Given the description of an element on the screen output the (x, y) to click on. 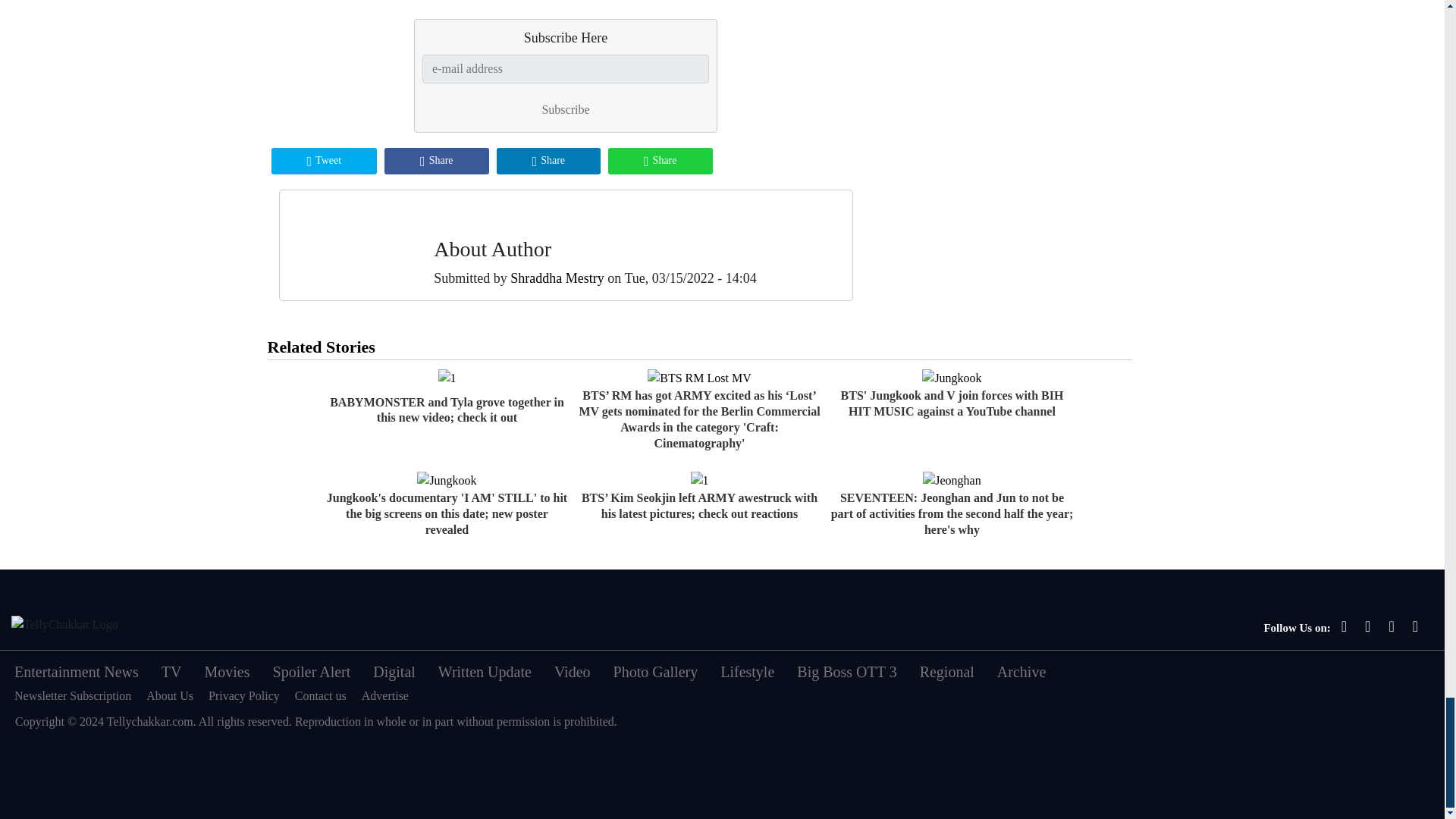
1 (698, 480)
Jeonghan  (951, 480)
Jungkook (446, 480)
BTS RM Lost MV (699, 378)
Jungkook  (951, 378)
1 (447, 378)
TellyChakkar Logo (64, 624)
View user profile. (557, 278)
